Given the description of an element on the screen output the (x, y) to click on. 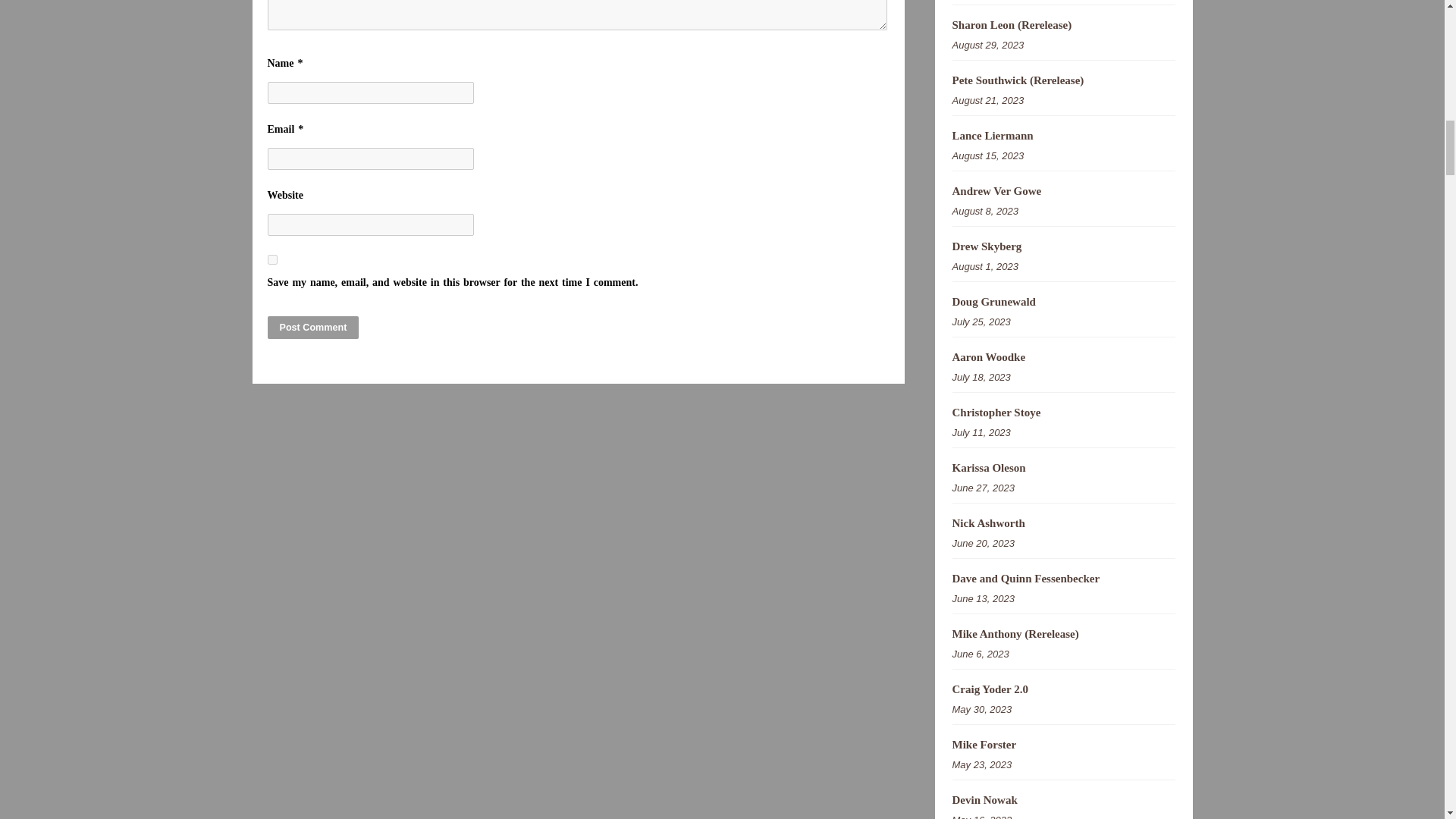
Post Comment (312, 327)
Post Comment (312, 327)
yes (271, 259)
